Given the description of an element on the screen output the (x, y) to click on. 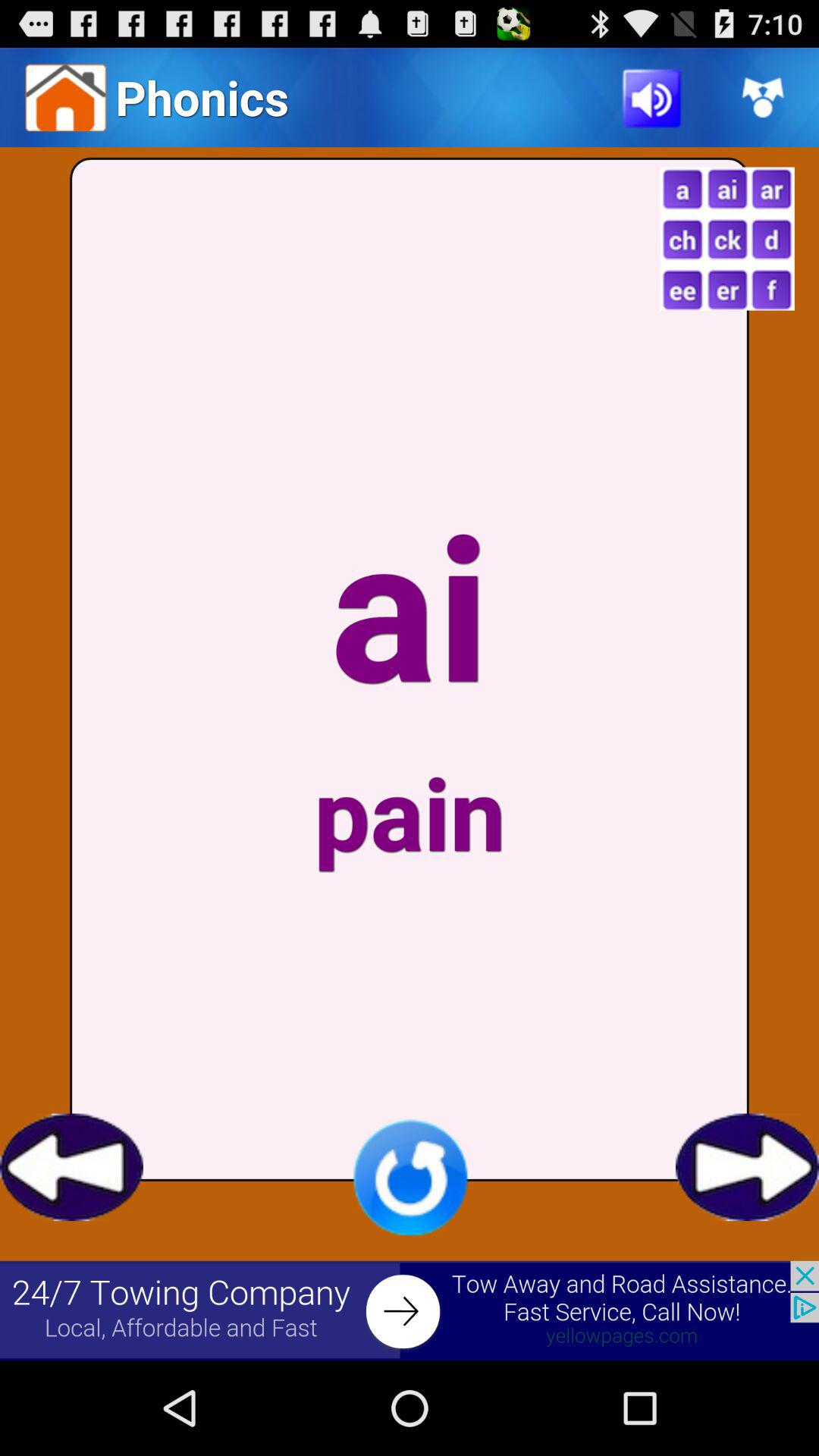
refresh (409, 1177)
